Given the description of an element on the screen output the (x, y) to click on. 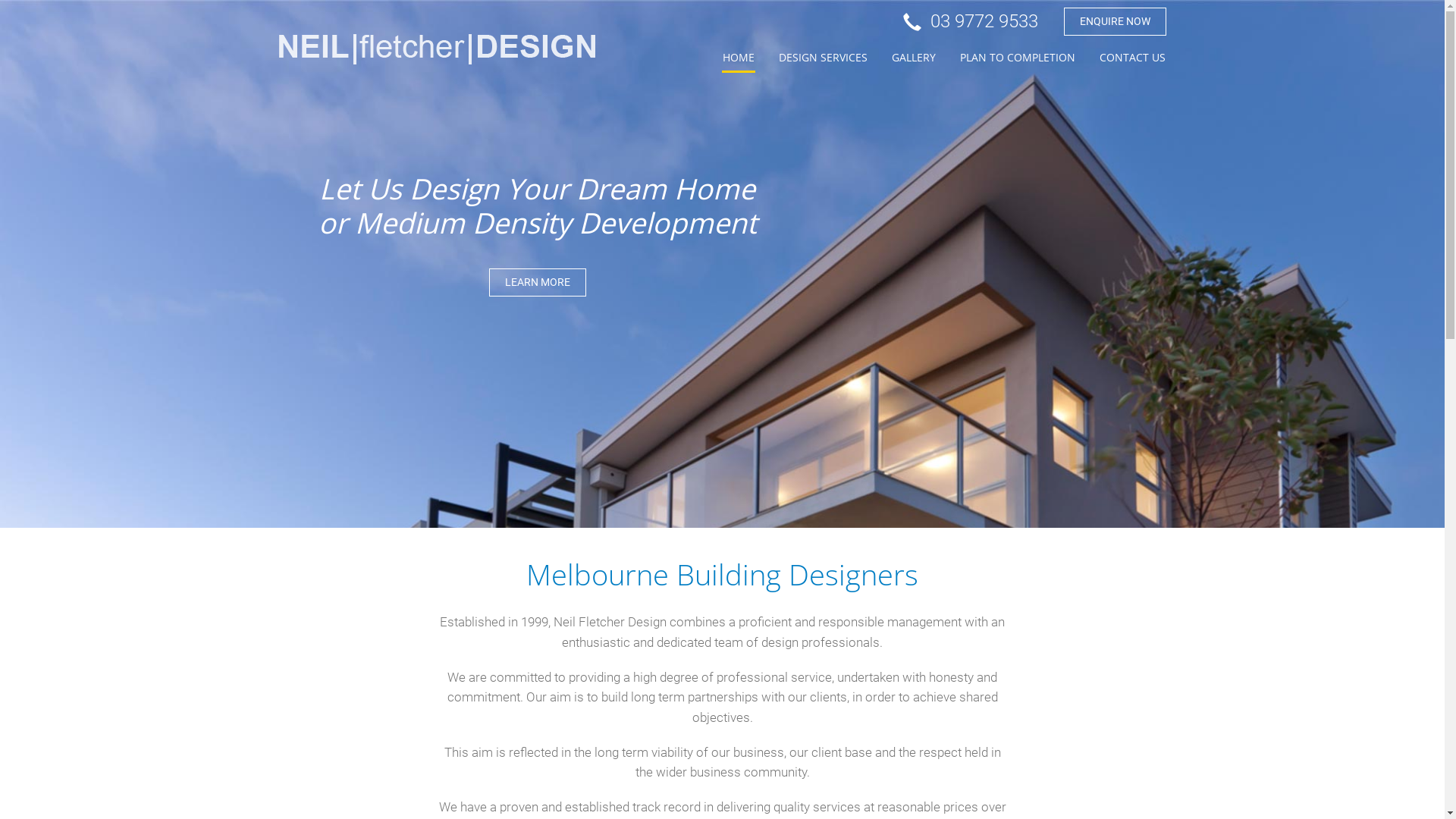
CONTACT US Element type: text (1131, 58)
DESIGN SERVICES Element type: text (823, 58)
ENQUIRE NOW Element type: text (1114, 21)
LEARN MORE Element type: text (537, 282)
GALLERY Element type: text (912, 58)
HOME Element type: text (738, 58)
03 9772 9533 Element type: text (969, 20)
PLAN TO COMPLETION Element type: text (1016, 58)
